Given the description of an element on the screen output the (x, y) to click on. 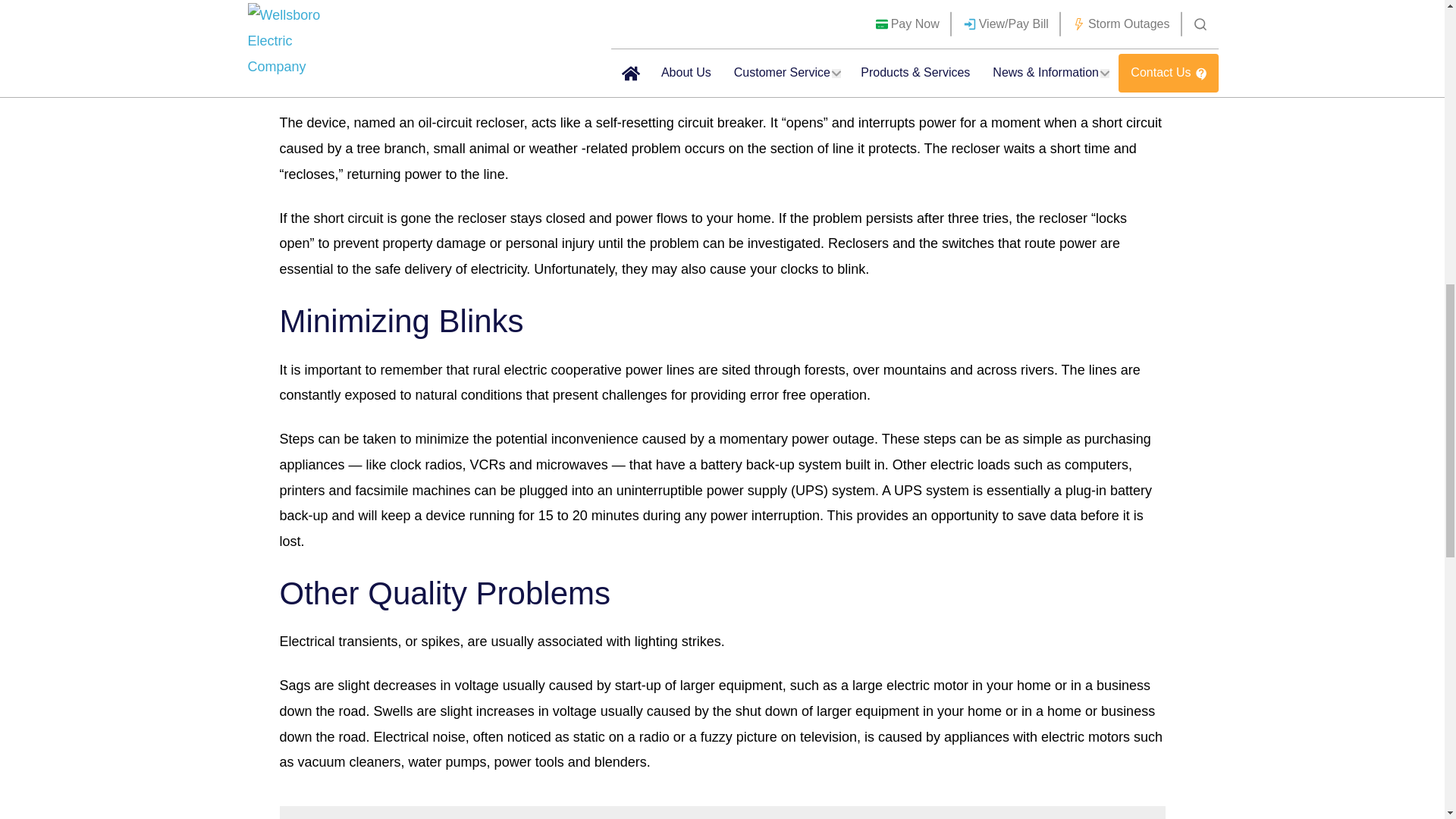
Electrical Hazards (721, 812)
